Given the description of an element on the screen output the (x, y) to click on. 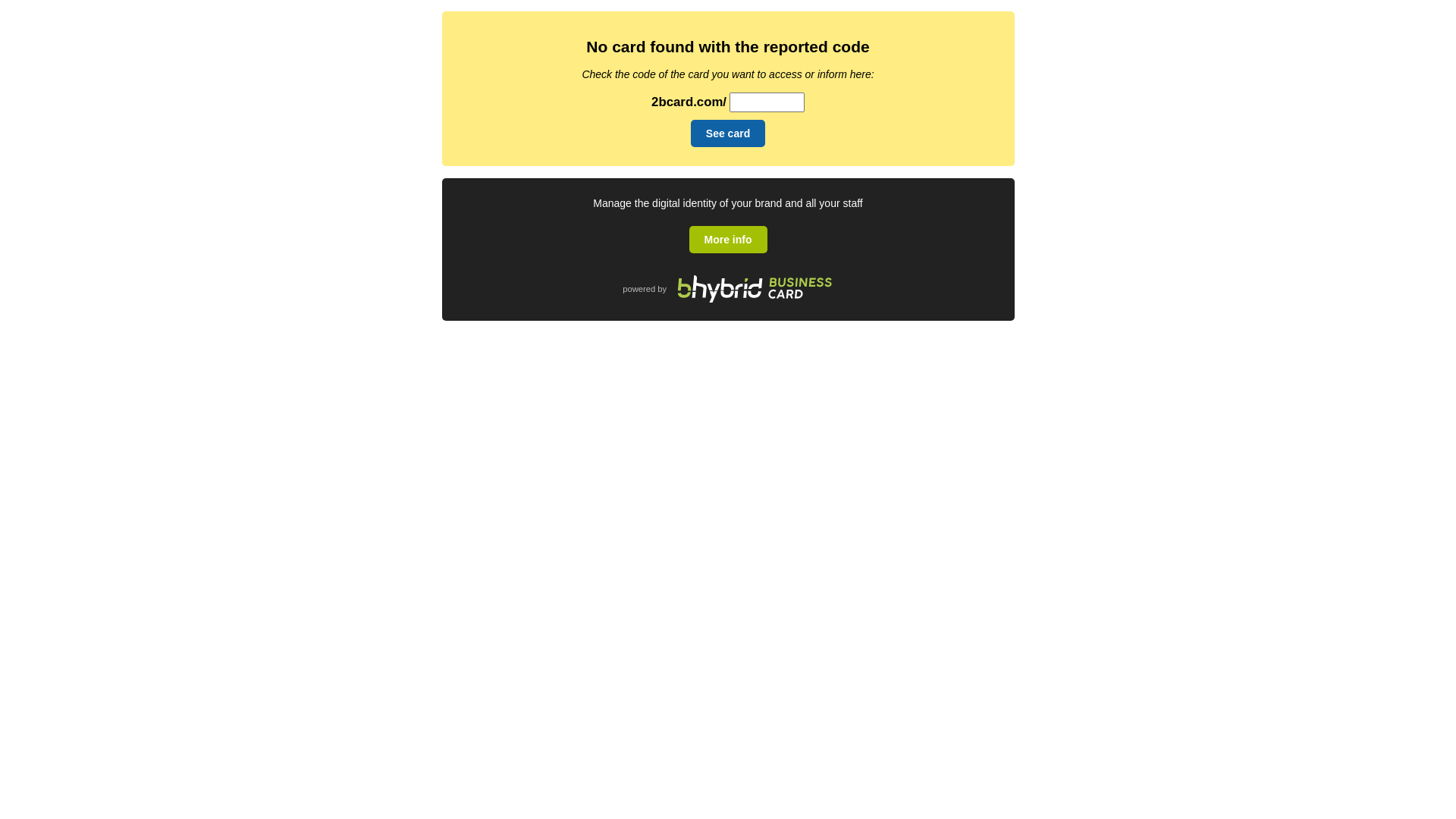
More info Element type: text (727, 239)
See card Element type: text (727, 133)
